Given the description of an element on the screen output the (x, y) to click on. 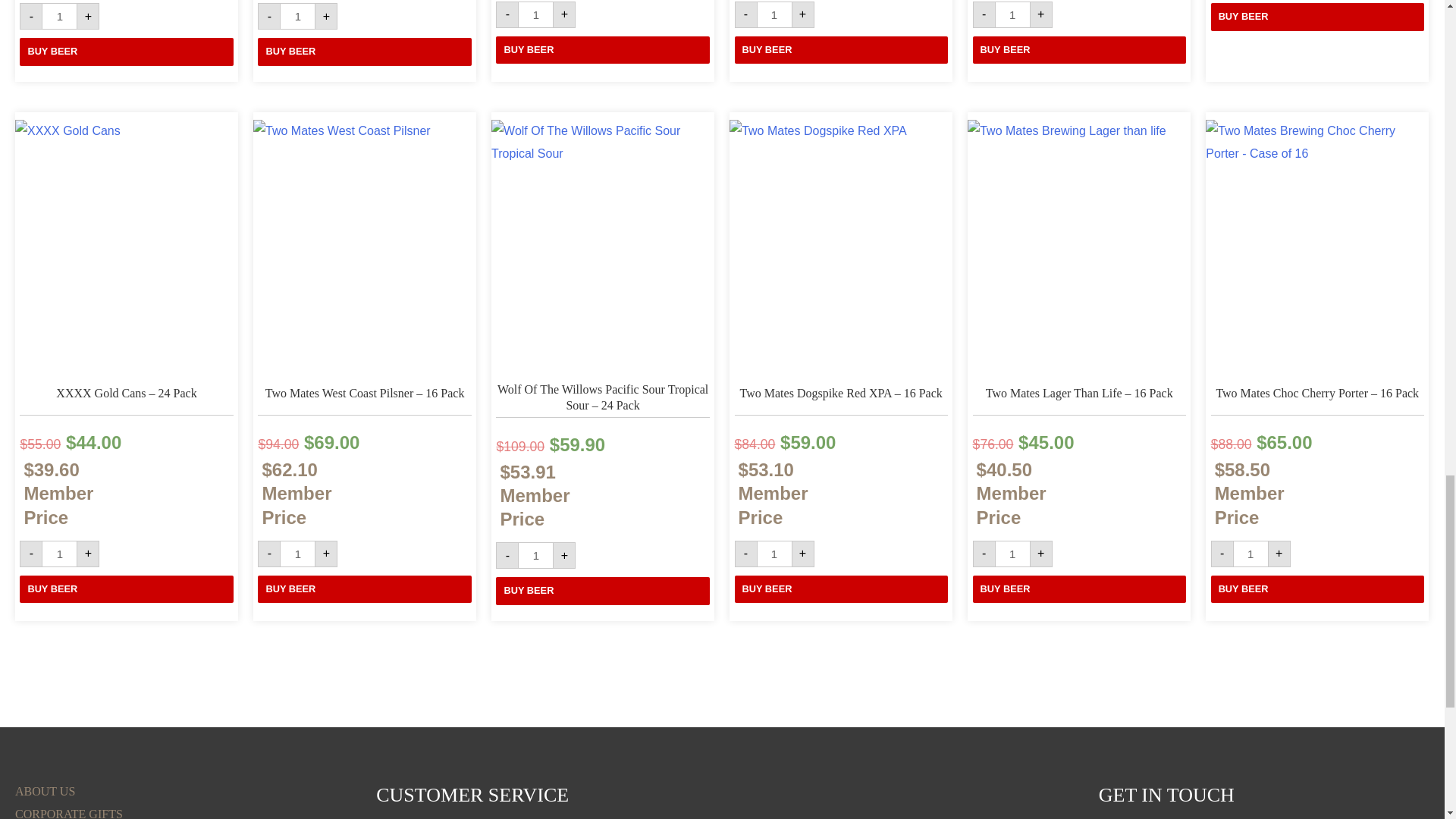
Qty (535, 555)
Qty (59, 553)
Qty (59, 16)
1 (774, 553)
Qty (1012, 14)
1 (774, 14)
Qty (297, 553)
Qty (774, 553)
Qty (297, 16)
1 (297, 553)
